Given the description of an element on the screen output the (x, y) to click on. 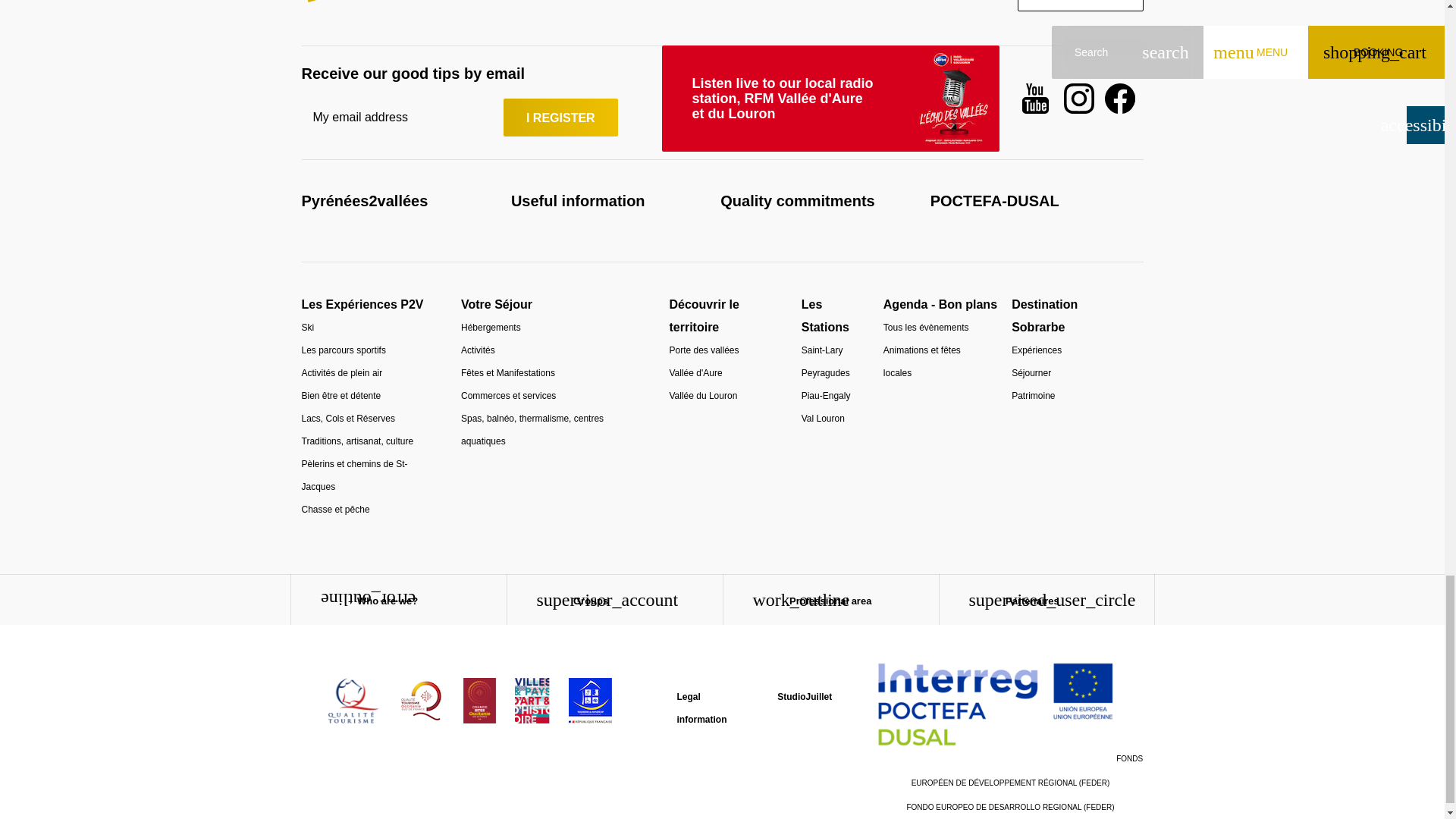
CONTACT US (1079, 5)
Useful information (578, 200)
I register (560, 117)
I register (560, 117)
POCTEFA-DUSAL (994, 200)
Les parcours sportifs (343, 350)
Quality commitments (797, 200)
